Given the description of an element on the screen output the (x, y) to click on. 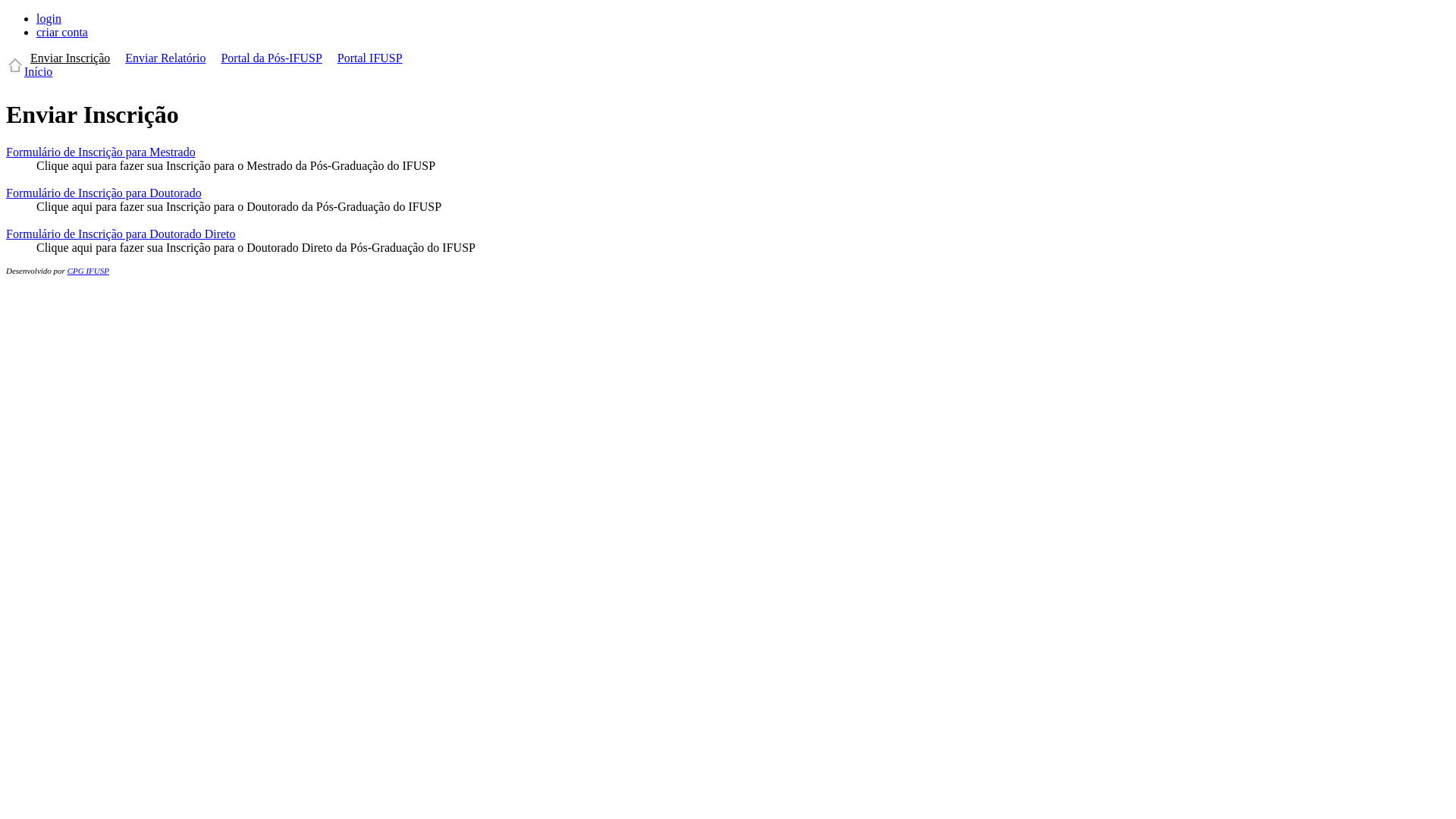
login Element type: text (48, 18)
CPG IFUSP Element type: text (88, 270)
home Element type: hover (15, 70)
criar conta Element type: text (61, 31)
Portal IFUSP Element type: text (369, 57)
